Given the description of an element on the screen output the (x, y) to click on. 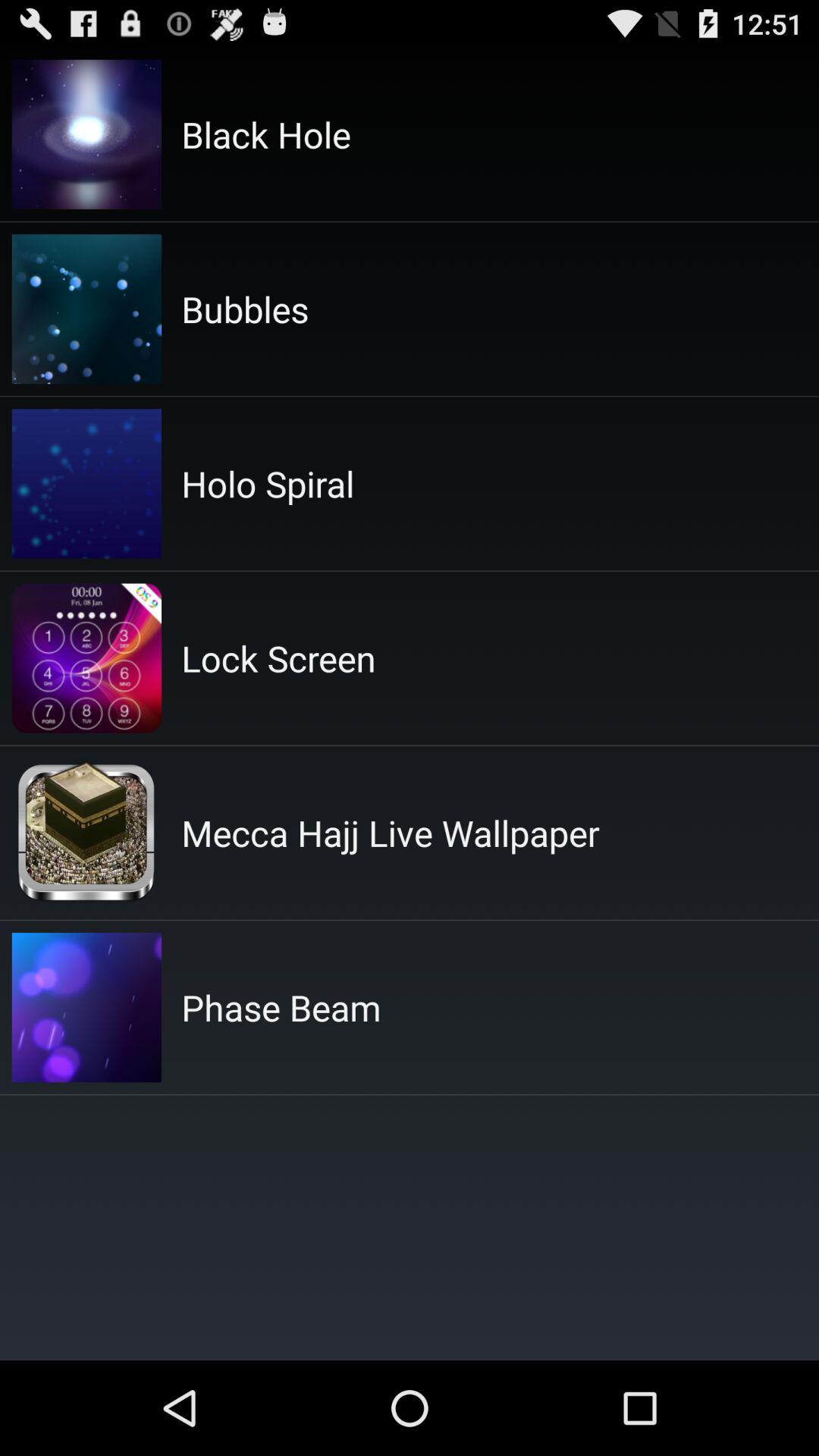
select the bubbles item (244, 308)
